Given the description of an element on the screen output the (x, y) to click on. 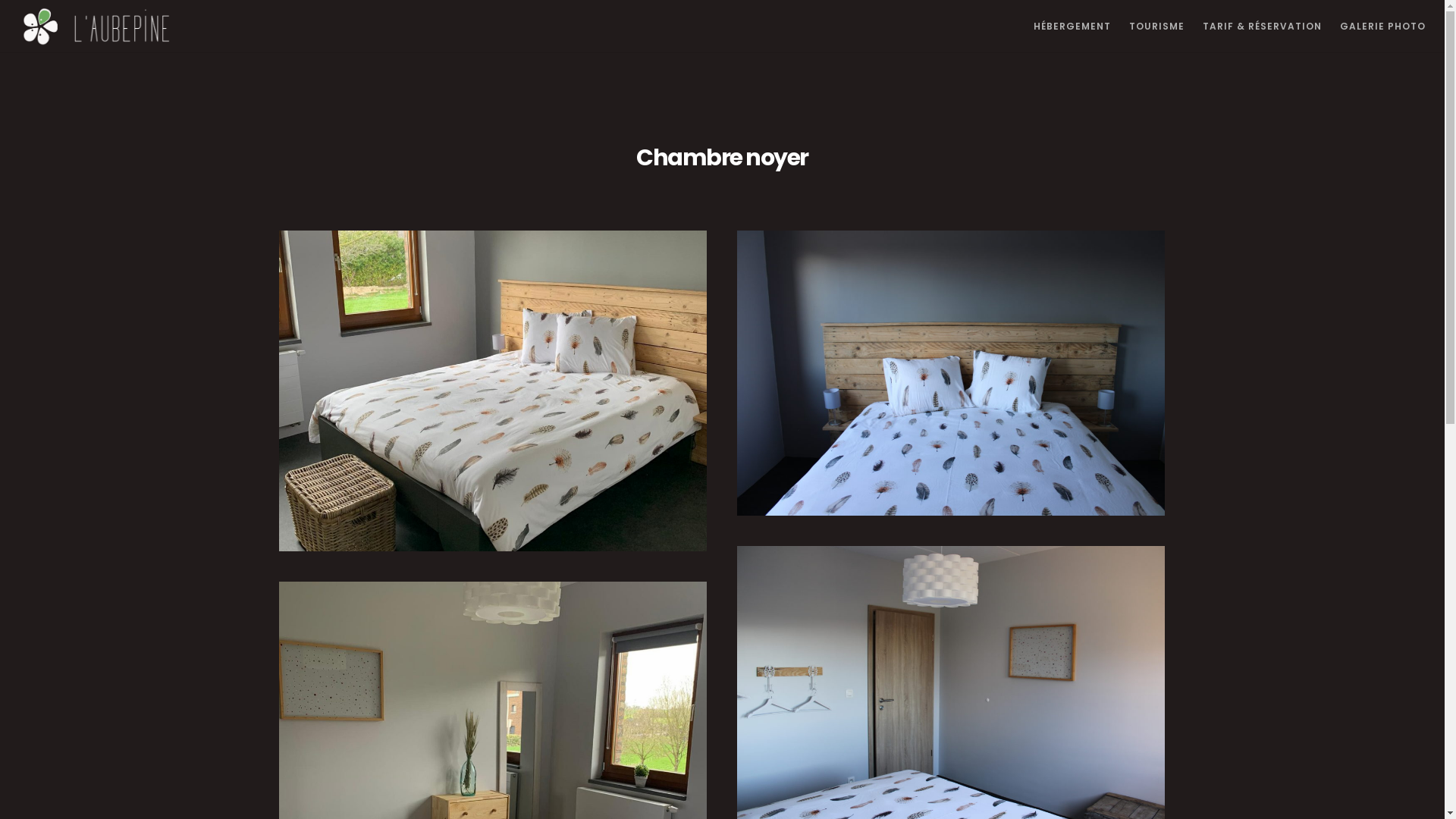
GALERIE PHOTO Element type: text (1373, 26)
TOURISME Element type: text (1147, 26)
